Given the description of an element on the screen output the (x, y) to click on. 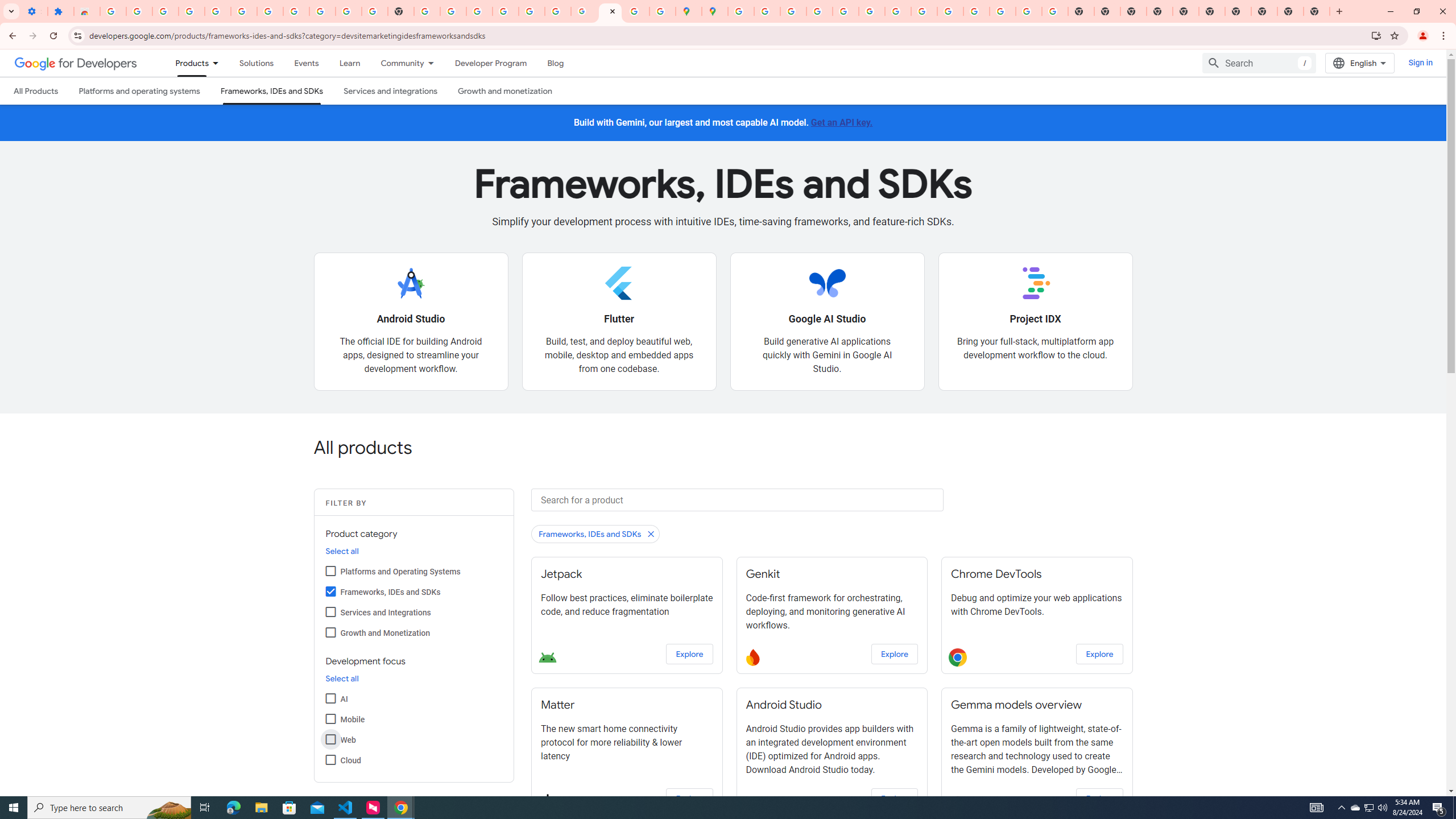
Cloud (330, 759)
Dropdown menu for Community (433, 62)
Growth and Monetization (330, 631)
YouTube (897, 11)
Android Studio logo (411, 282)
English (1359, 63)
Flutter logo (618, 282)
